Given the description of an element on the screen output the (x, y) to click on. 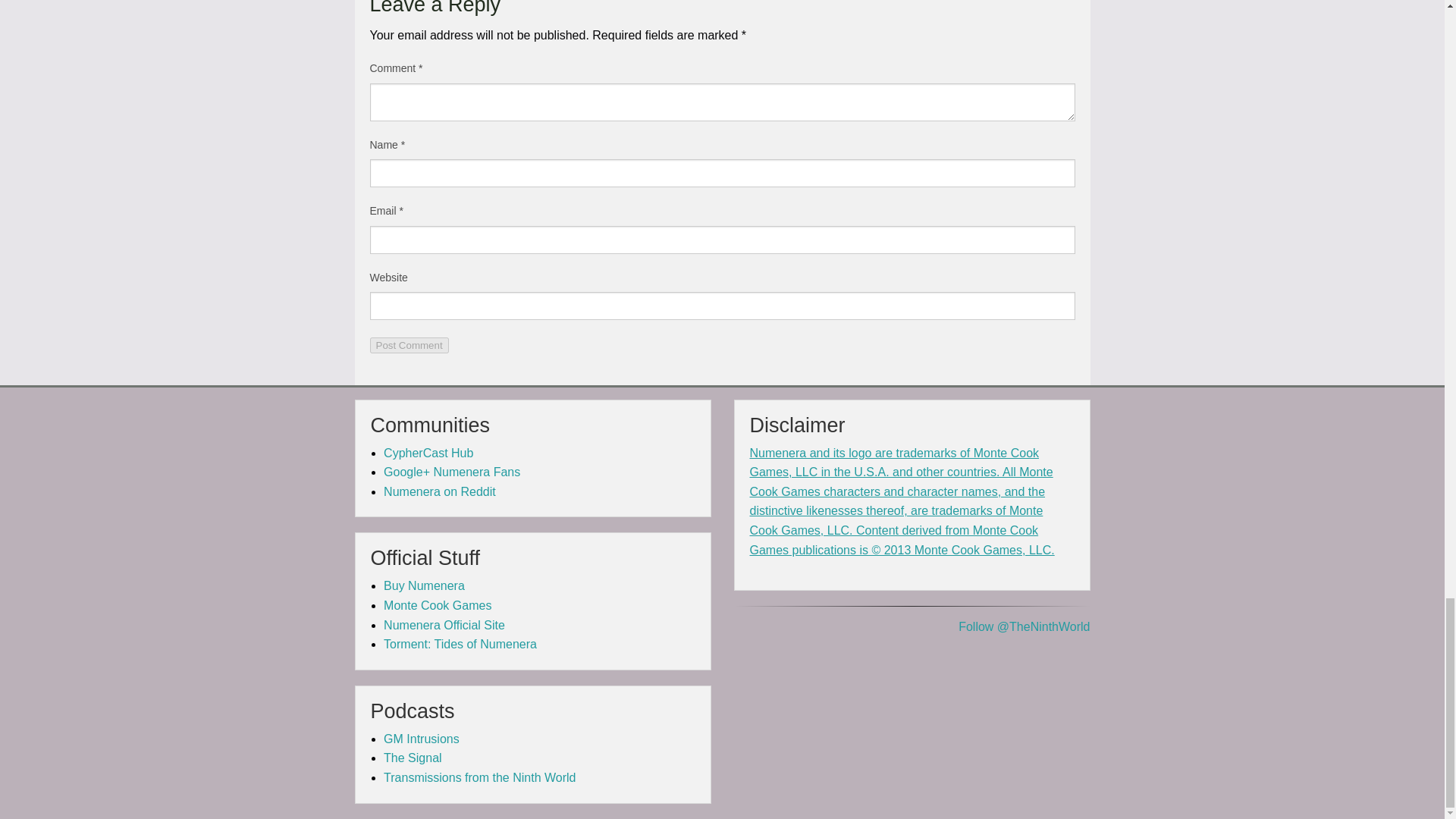
Numenera on Reddit (440, 491)
Buy Numenera (424, 585)
Read Full Disclaimer (901, 501)
Post Comment (408, 344)
Post Comment (408, 344)
CypherCast Hub (428, 452)
